Given the description of an element on the screen output the (x, y) to click on. 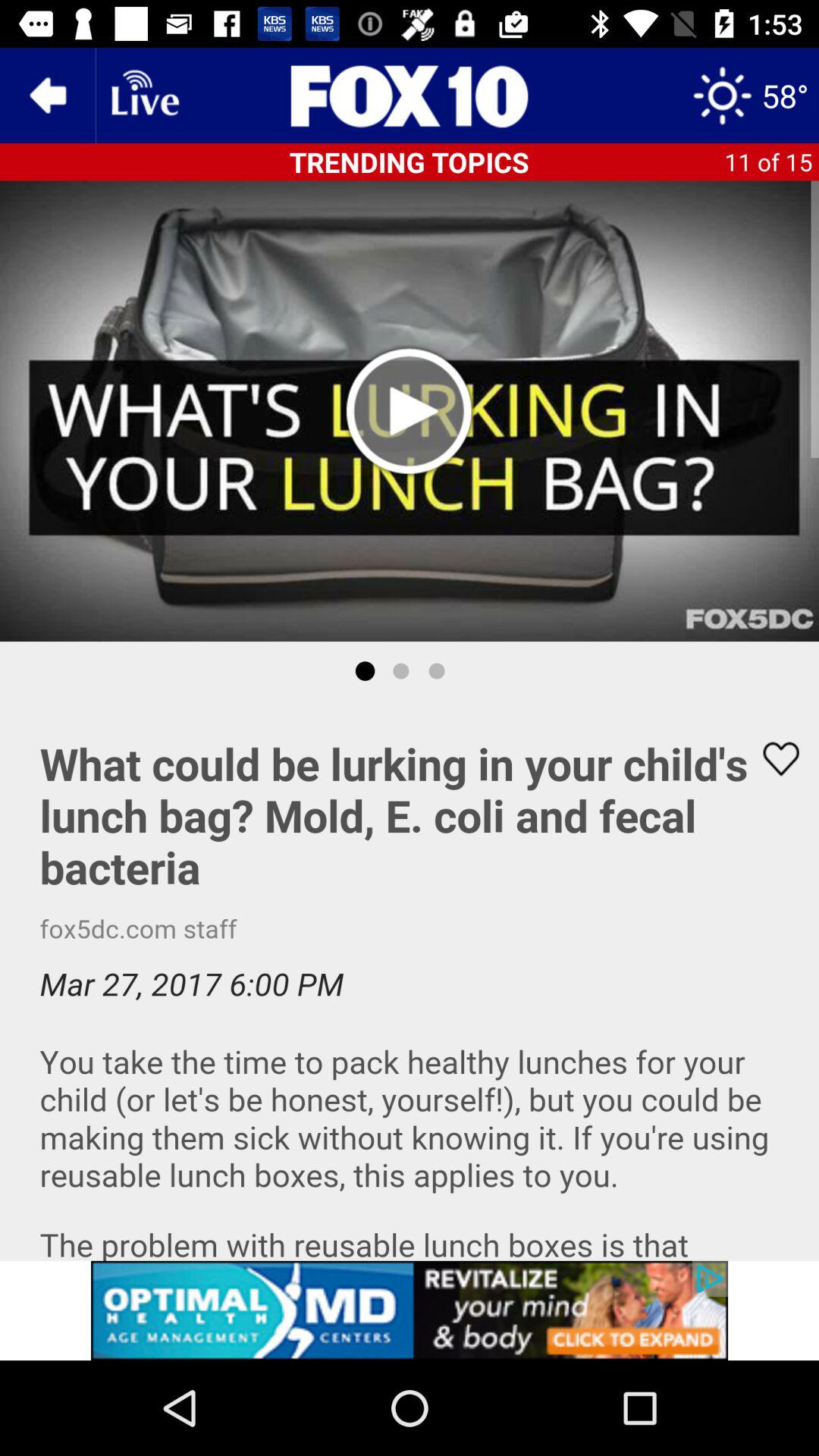
favorite button (771, 758)
